Given the description of an element on the screen output the (x, y) to click on. 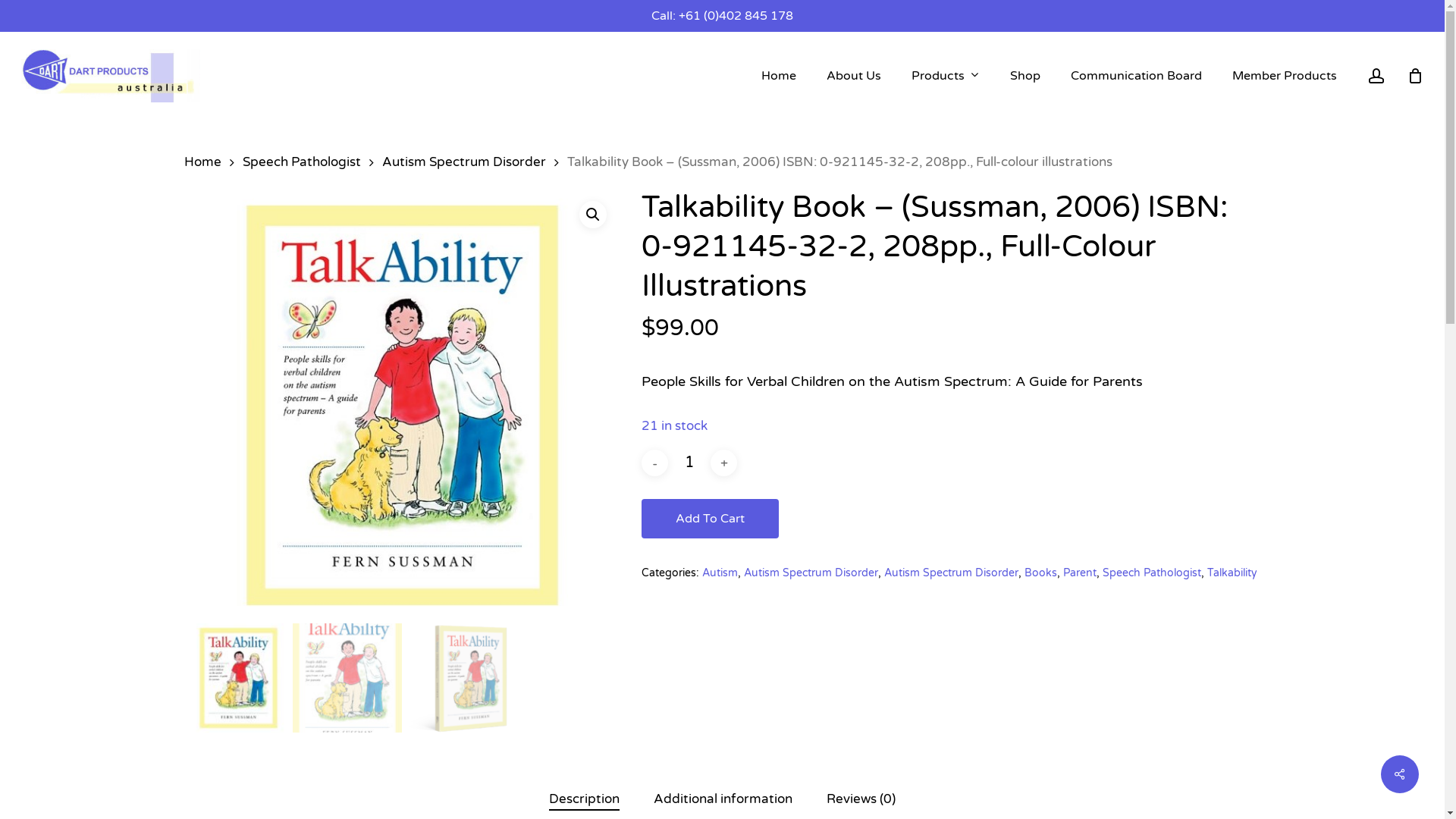
Books Element type: text (1040, 572)
Autism Element type: text (719, 572)
About Us Element type: text (853, 75)
Shop Element type: text (1025, 75)
Parent Element type: text (1079, 572)
Autism Spectrum Disorder Element type: text (810, 572)
Autism Spectrum Disorder Element type: text (464, 161)
Description Element type: text (584, 799)
Home Element type: text (778, 75)
Home Element type: text (201, 161)
Reviews (0) Element type: text (860, 799)
Products Element type: text (945, 75)
Communication Board Element type: text (1135, 75)
Add To Cart Element type: text (709, 518)
Member Products Element type: text (1284, 75)
account Element type: text (1376, 76)
Autism Spectrum Disorder Element type: text (951, 572)
Speech Pathologist Element type: text (1151, 572)
Speech Pathologist Element type: text (301, 161)
Talkability Element type: text (1232, 572)
Additional information Element type: text (722, 799)
33-82-thickbox.jpg Element type: hover (401, 405)
Qty Element type: hover (688, 462)
